Given the description of an element on the screen output the (x, y) to click on. 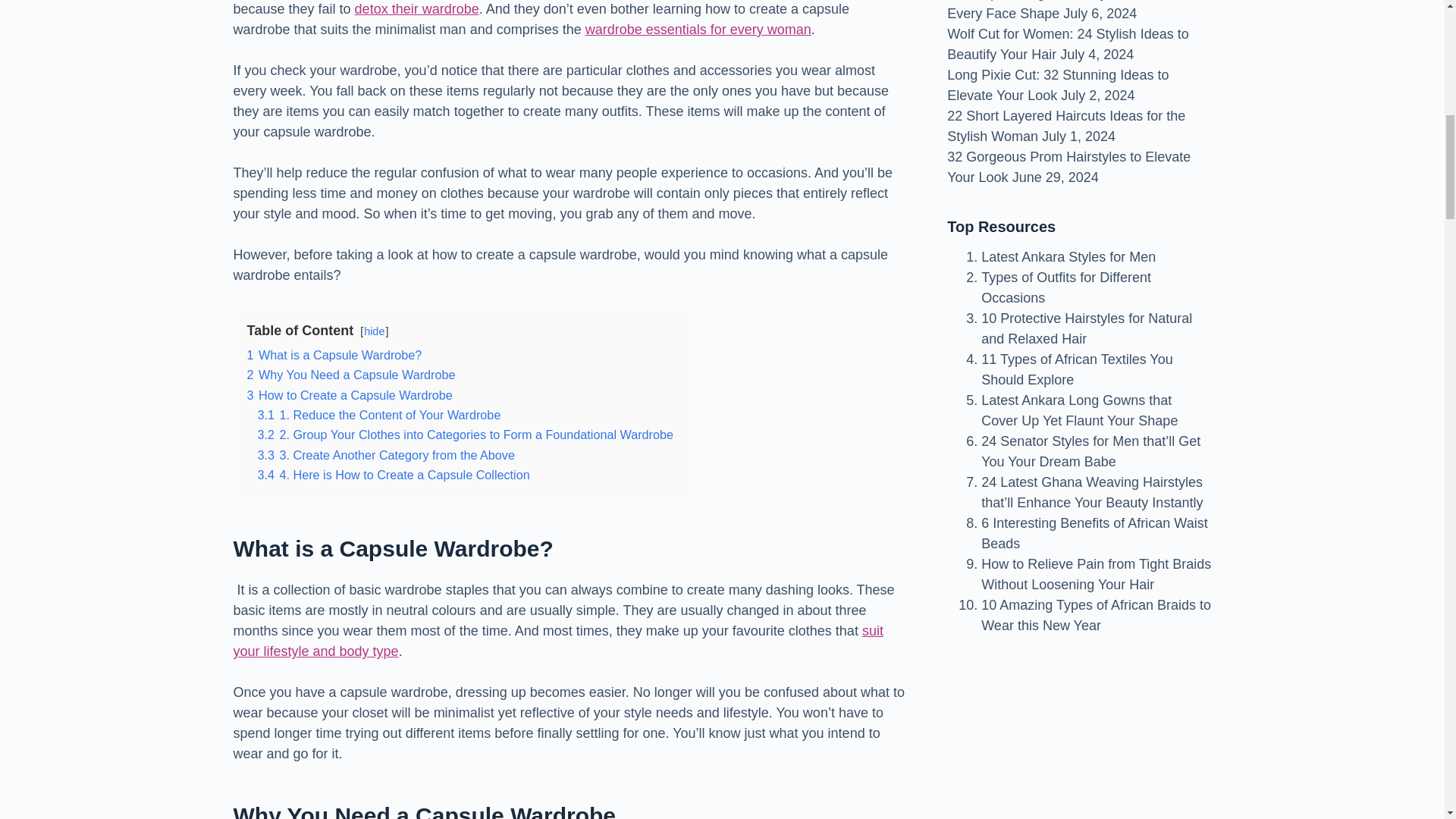
Types of Outfits for Different Occasions (1066, 287)
Latest Ankara Styles for Men (1068, 256)
